Given the description of an element on the screen output the (x, y) to click on. 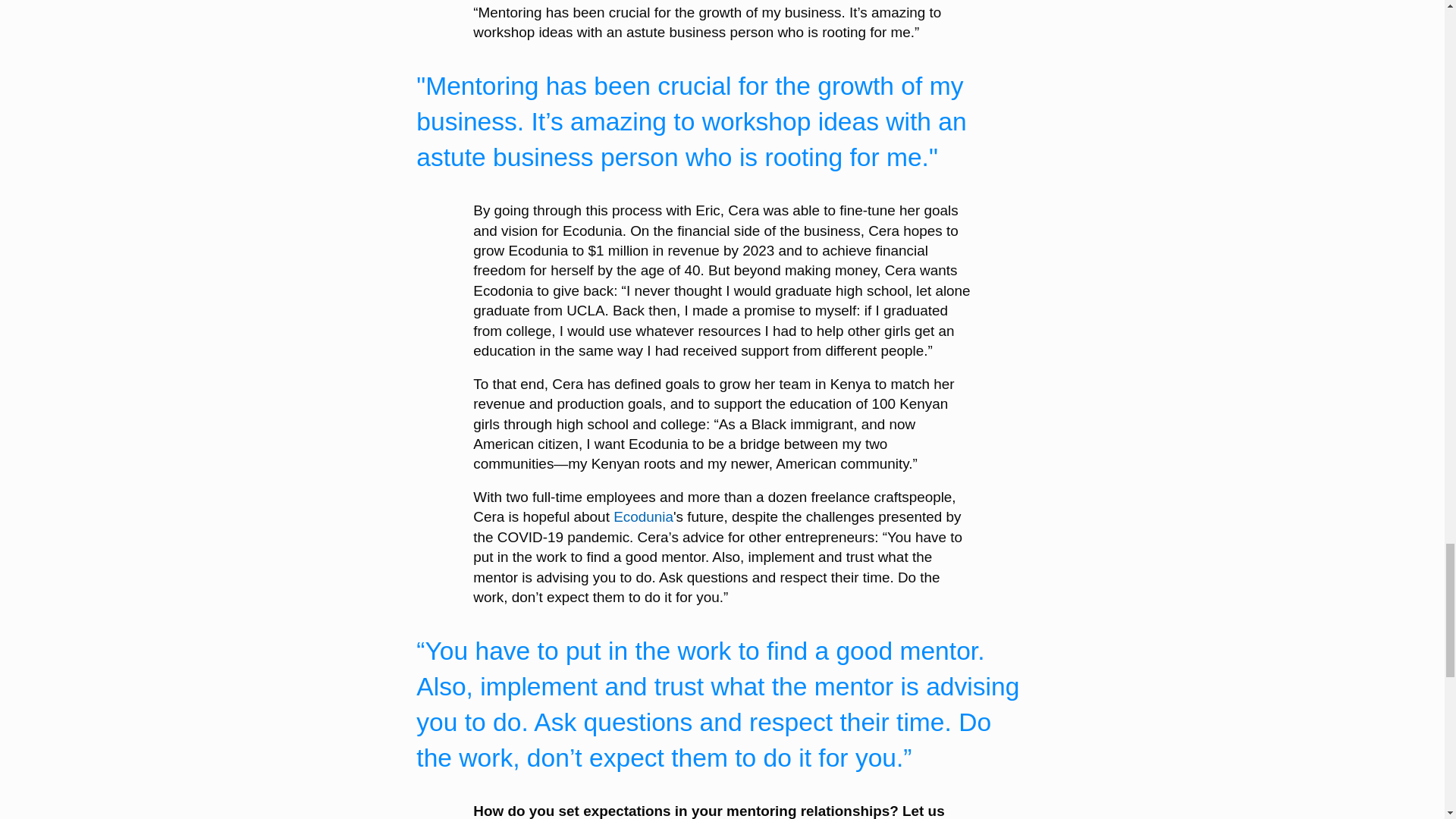
Ecodunia (642, 516)
